Given the description of an element on the screen output the (x, y) to click on. 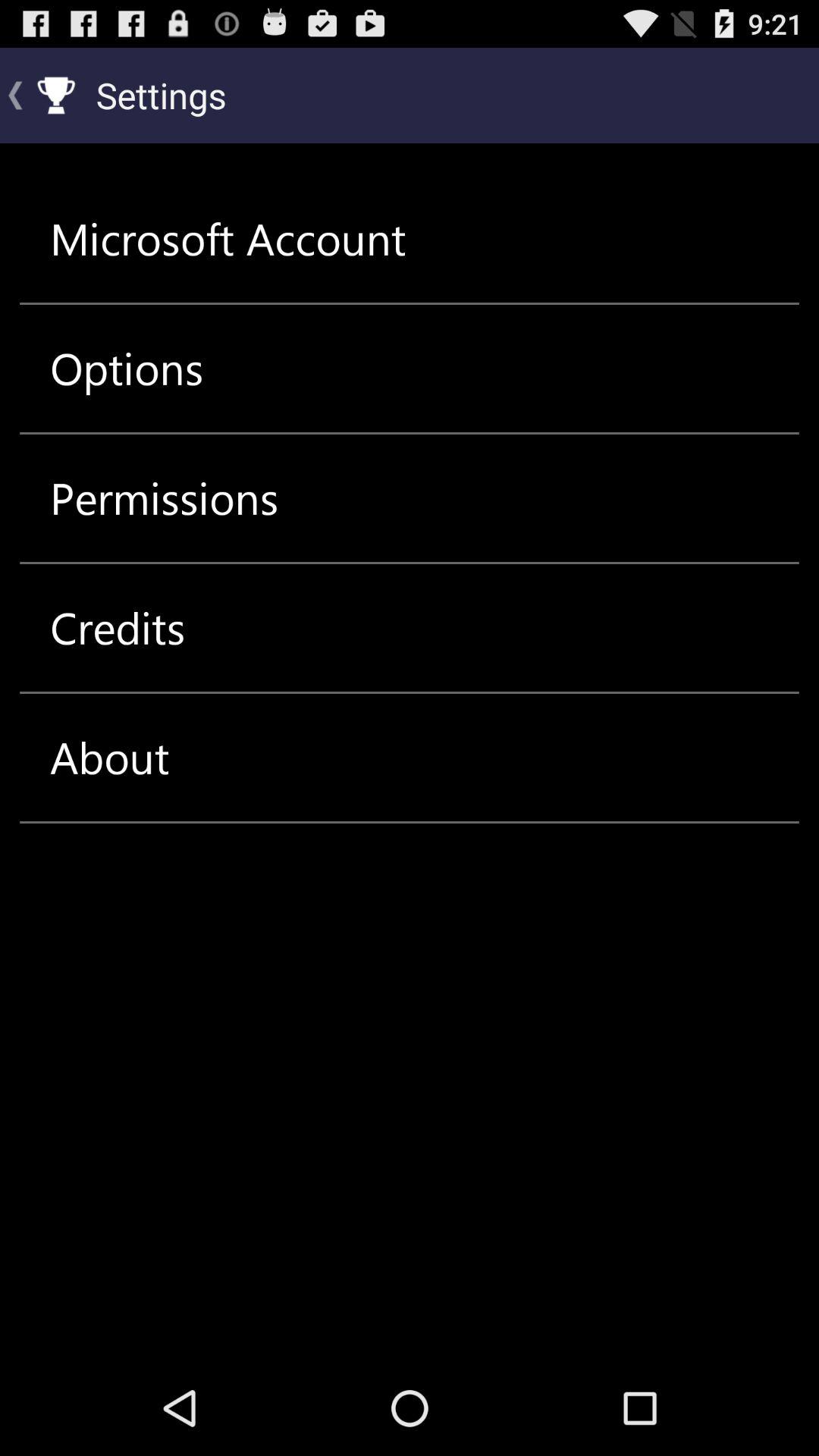
launch icon above the permissions icon (126, 368)
